Given the description of an element on the screen output the (x, y) to click on. 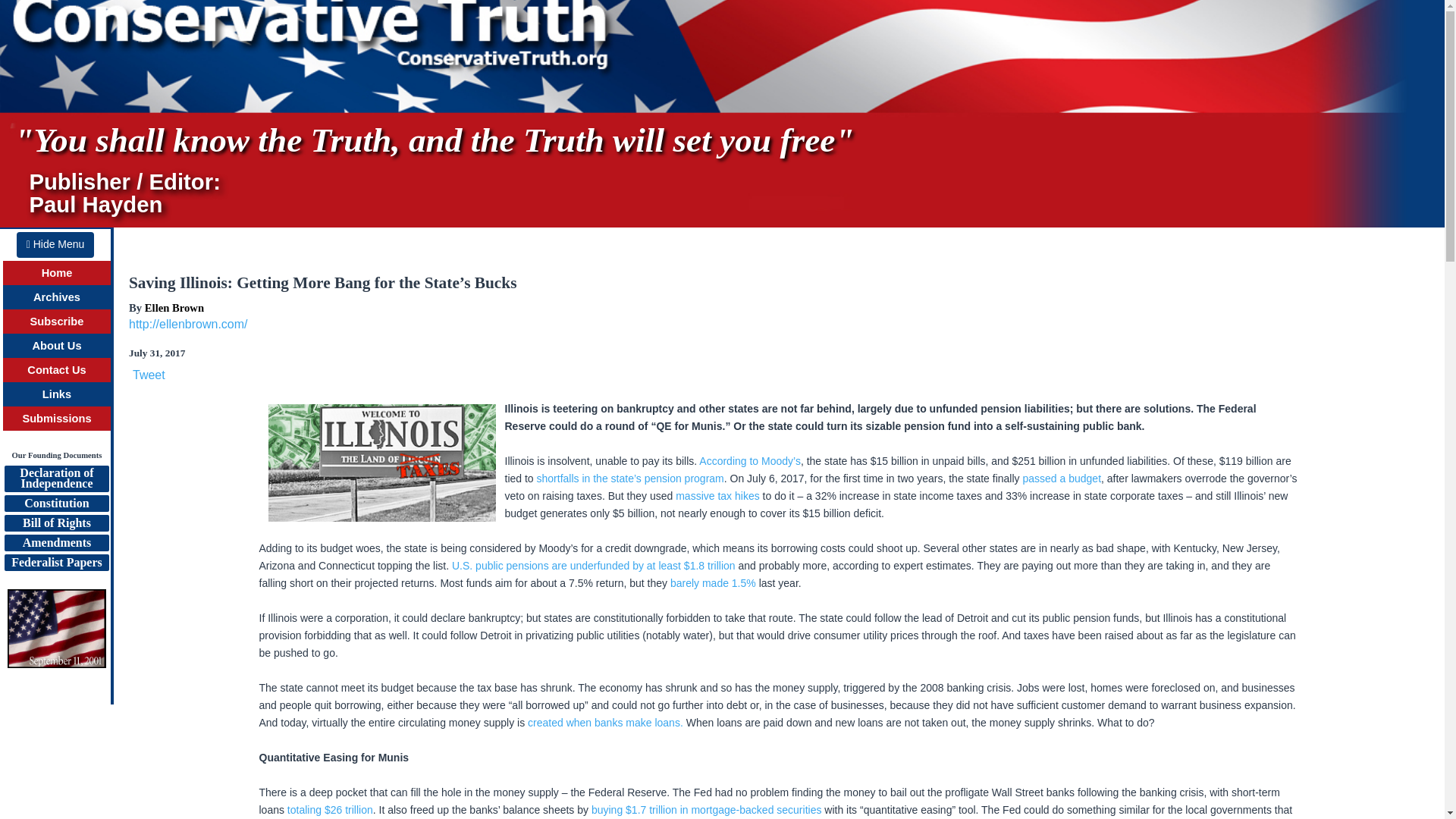
Submissions (55, 418)
created when banks make loans. (604, 722)
About Us (56, 345)
passed a budget (1061, 478)
Constitution (56, 503)
Contact Us (56, 369)
Subscribe (57, 321)
Links (56, 394)
Tweet (148, 374)
Amendments (56, 542)
Home (57, 272)
Hide Menu (55, 244)
Federalist Papers (56, 562)
Ellen Brown (173, 307)
